Given the description of an element on the screen output the (x, y) to click on. 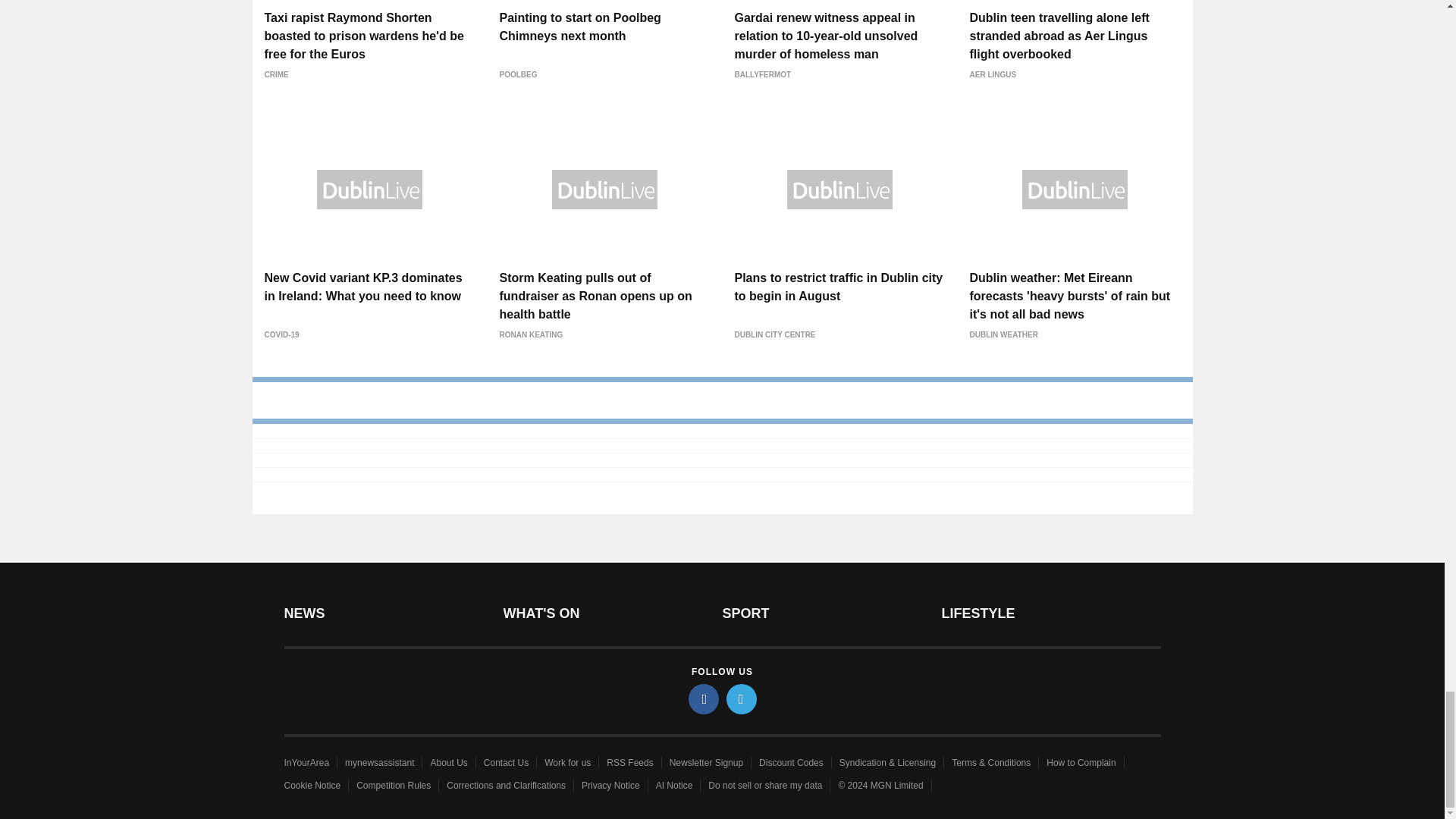
twitter (741, 698)
facebook (703, 698)
